Given the description of an element on the screen output the (x, y) to click on. 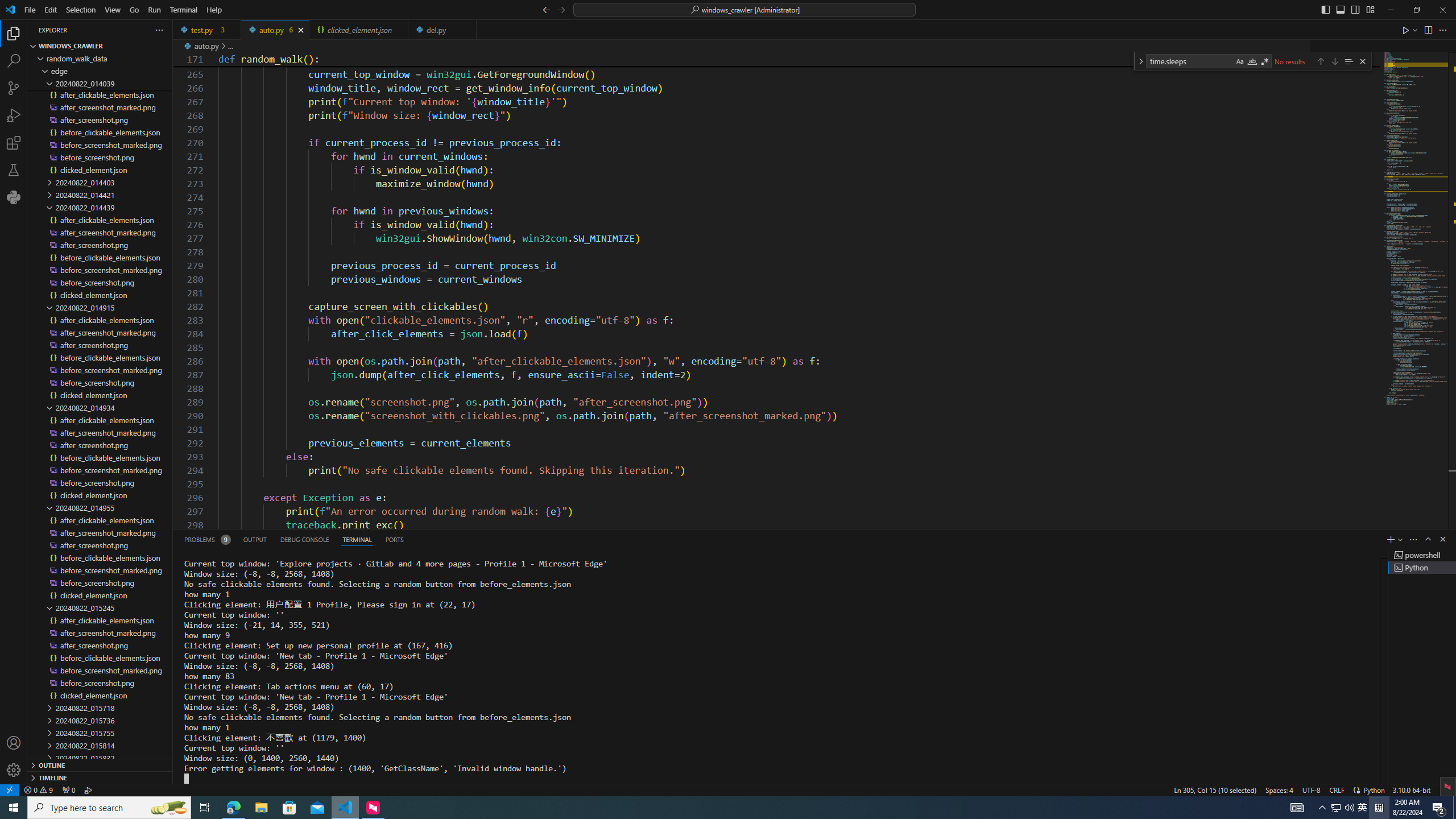
Views and More Actions... (1412, 539)
Previous Match (Shift+Enter) (1320, 60)
Extensions (Ctrl+Shift+X) (13, 142)
del.py (442, 29)
Selection (80, 9)
Go Back (Alt+LeftArrow) (546, 9)
Spaces: 4 (1278, 789)
Customize Layout... (1369, 9)
Run (153, 9)
Toggle Replace (1140, 61)
Ln 305, Col 15 (10 selected) (1214, 789)
Toggle Secondary Side Bar (Ctrl+Alt+B) (1355, 9)
More Actions... (1442, 29)
